Given the description of an element on the screen output the (x, y) to click on. 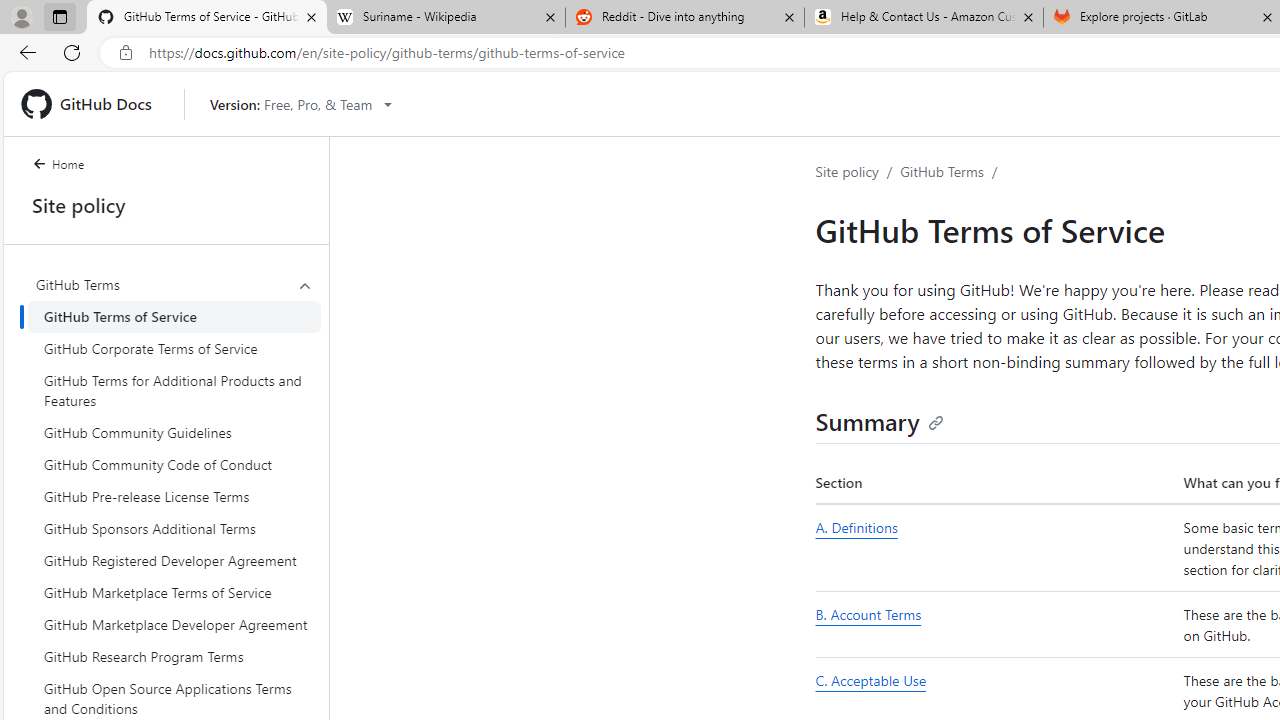
Suriname - Wikipedia (445, 17)
GitHub Terms of Service (174, 316)
GitHub Terms for Additional Products and Features (174, 390)
GitHub Community Code of Conduct (174, 464)
B. Account Terms (868, 614)
A. Definitions (995, 548)
GitHub Pre-release License Terms (174, 496)
GitHub Terms of Service (174, 316)
GitHub Sponsors Additional Terms (174, 528)
B. Account Terms (995, 624)
A. Definitions (856, 527)
GitHub Research Program Terms (174, 656)
